Given the description of an element on the screen output the (x, y) to click on. 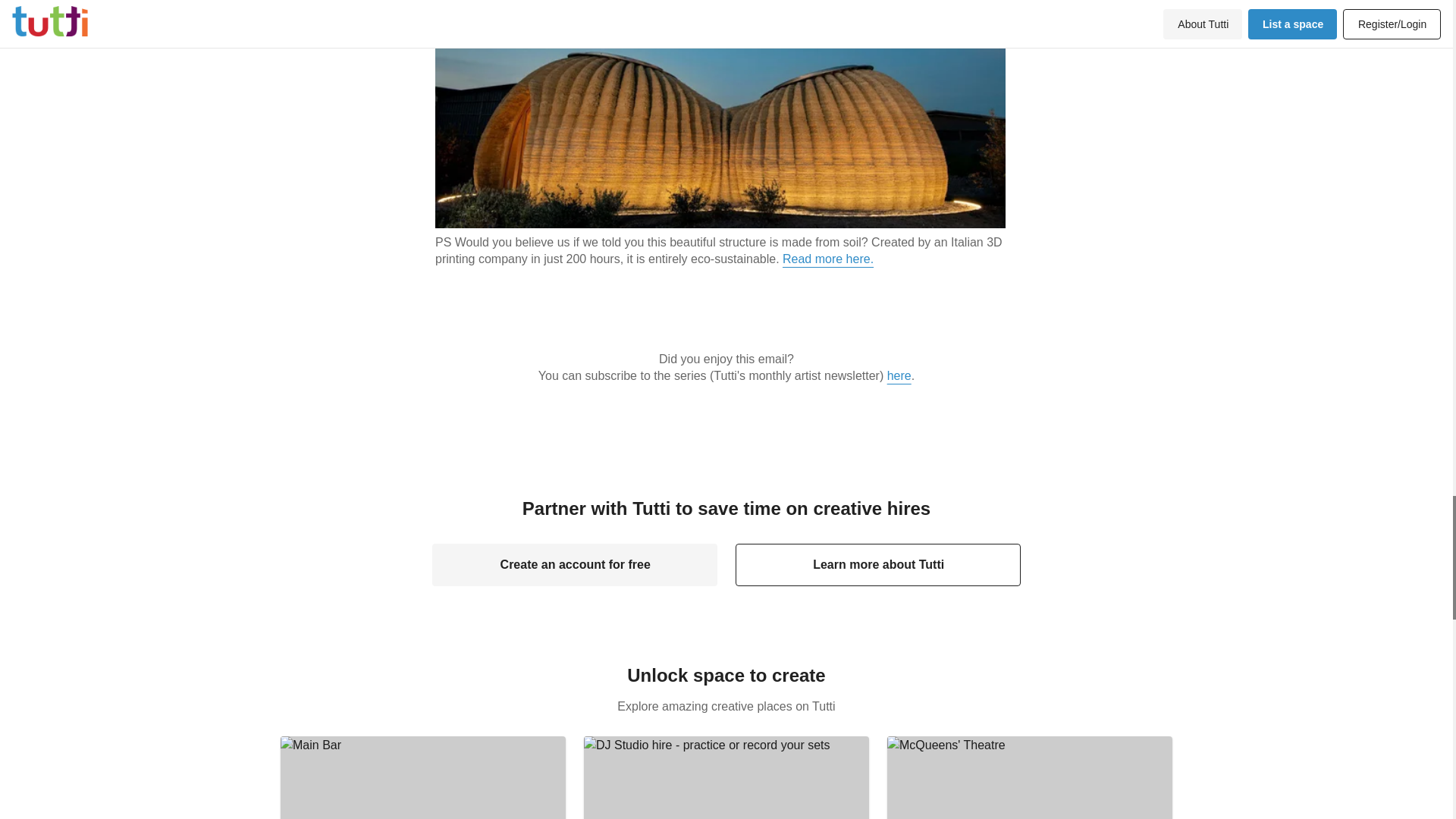
here (898, 375)
Create an account for free (423, 777)
Learn more about Tutti (726, 777)
Read more here. (574, 564)
